Given the description of an element on the screen output the (x, y) to click on. 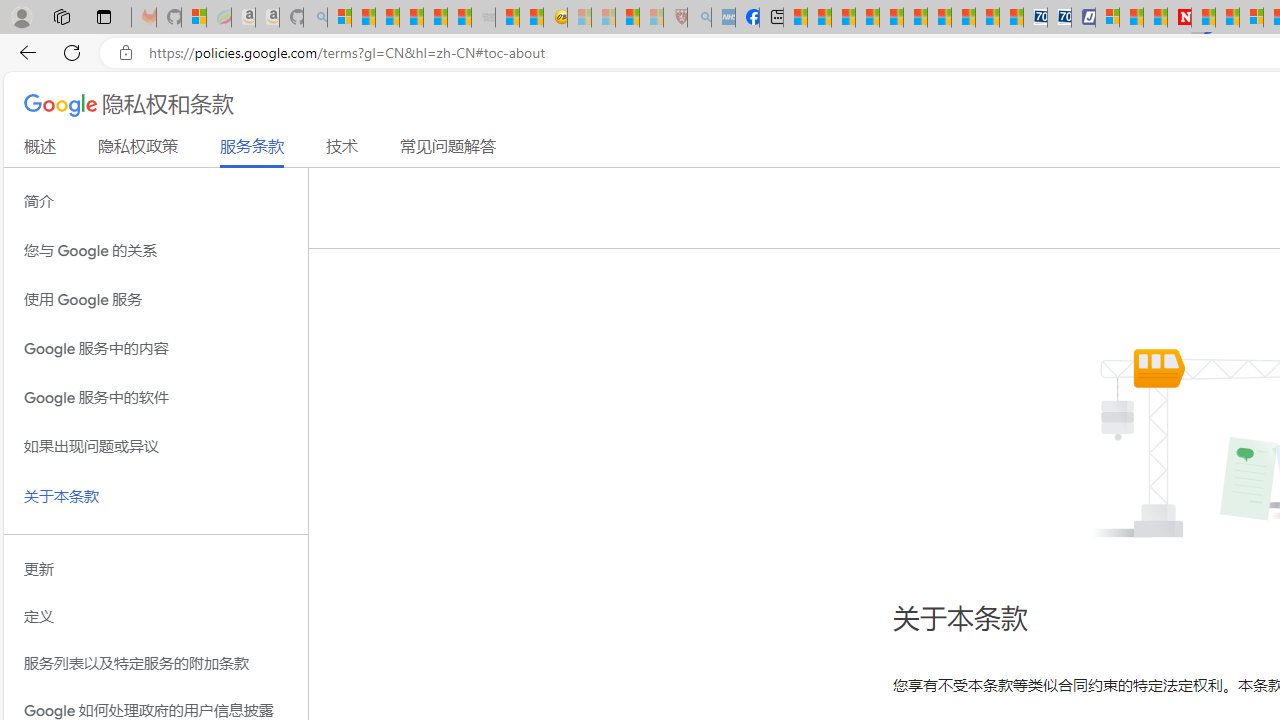
Cheap Hotels - Save70.com (1059, 17)
